Given the description of an element on the screen output the (x, y) to click on. 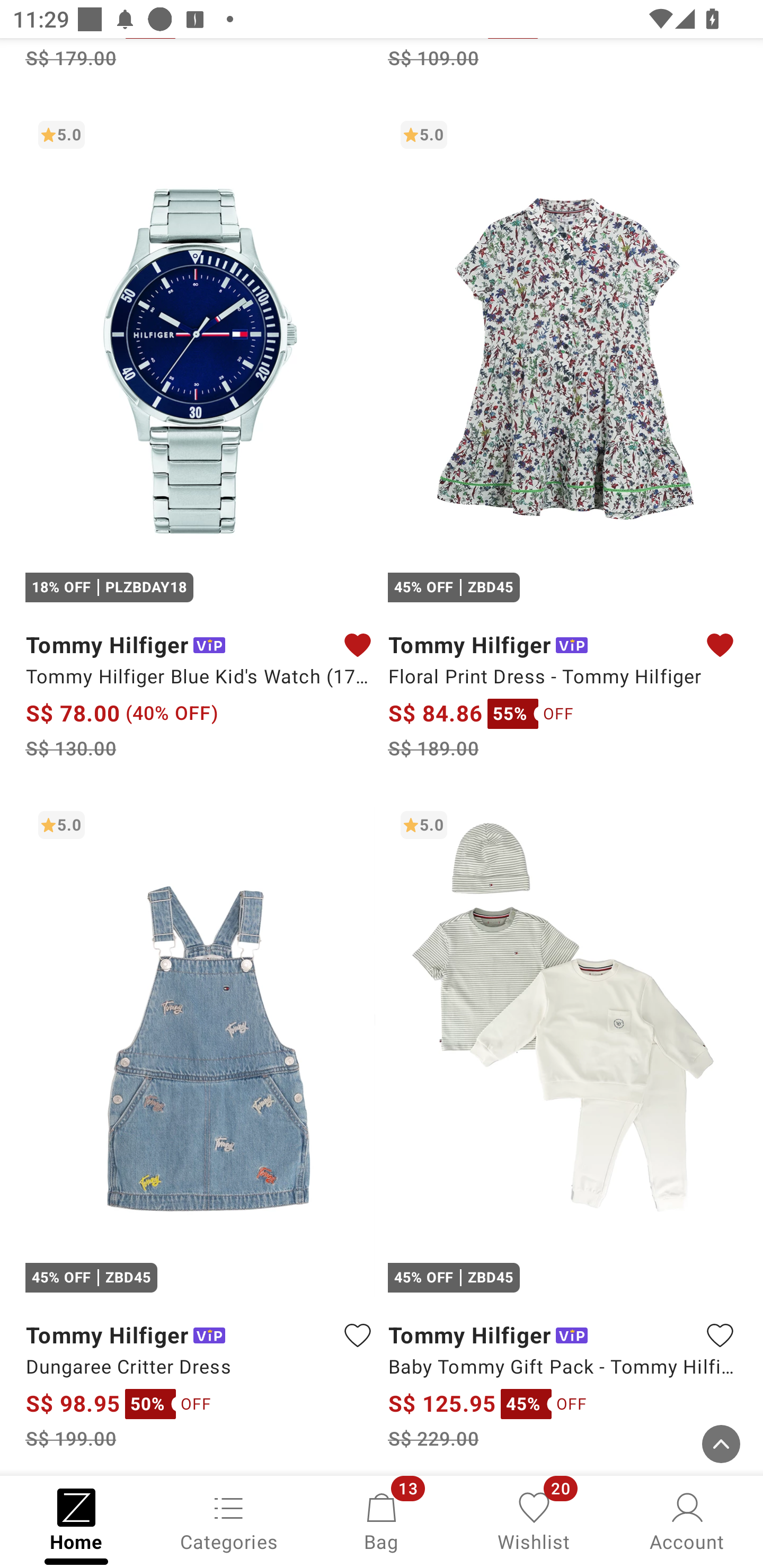
Categories (228, 1519)
Bag, 13 new notifications Bag (381, 1519)
Wishlist, 20 new notifications Wishlist (533, 1519)
Account (686, 1519)
